Given the description of an element on the screen output the (x, y) to click on. 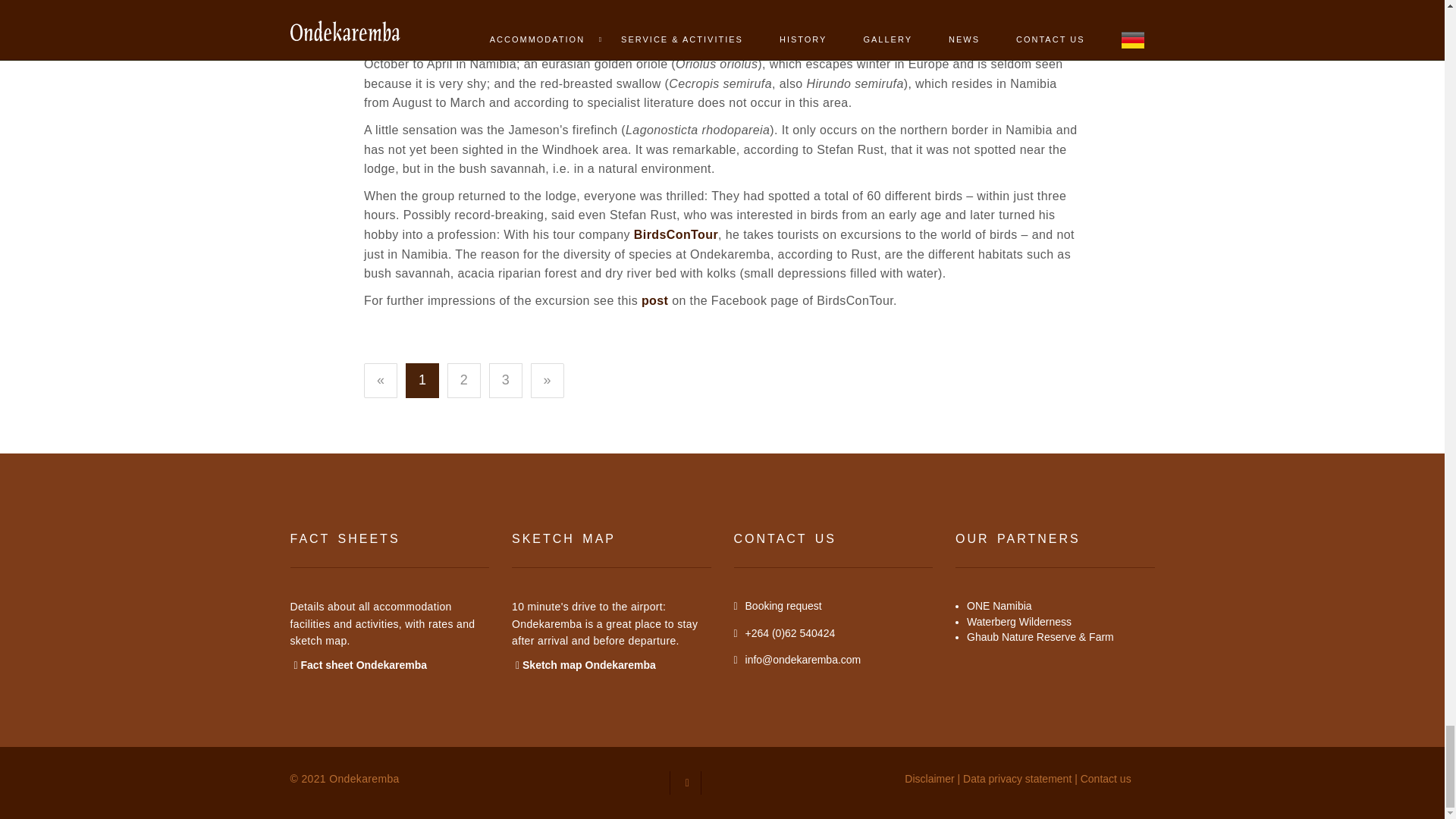
post (655, 300)
BirdsConTour (675, 234)
